Given the description of an element on the screen output the (x, y) to click on. 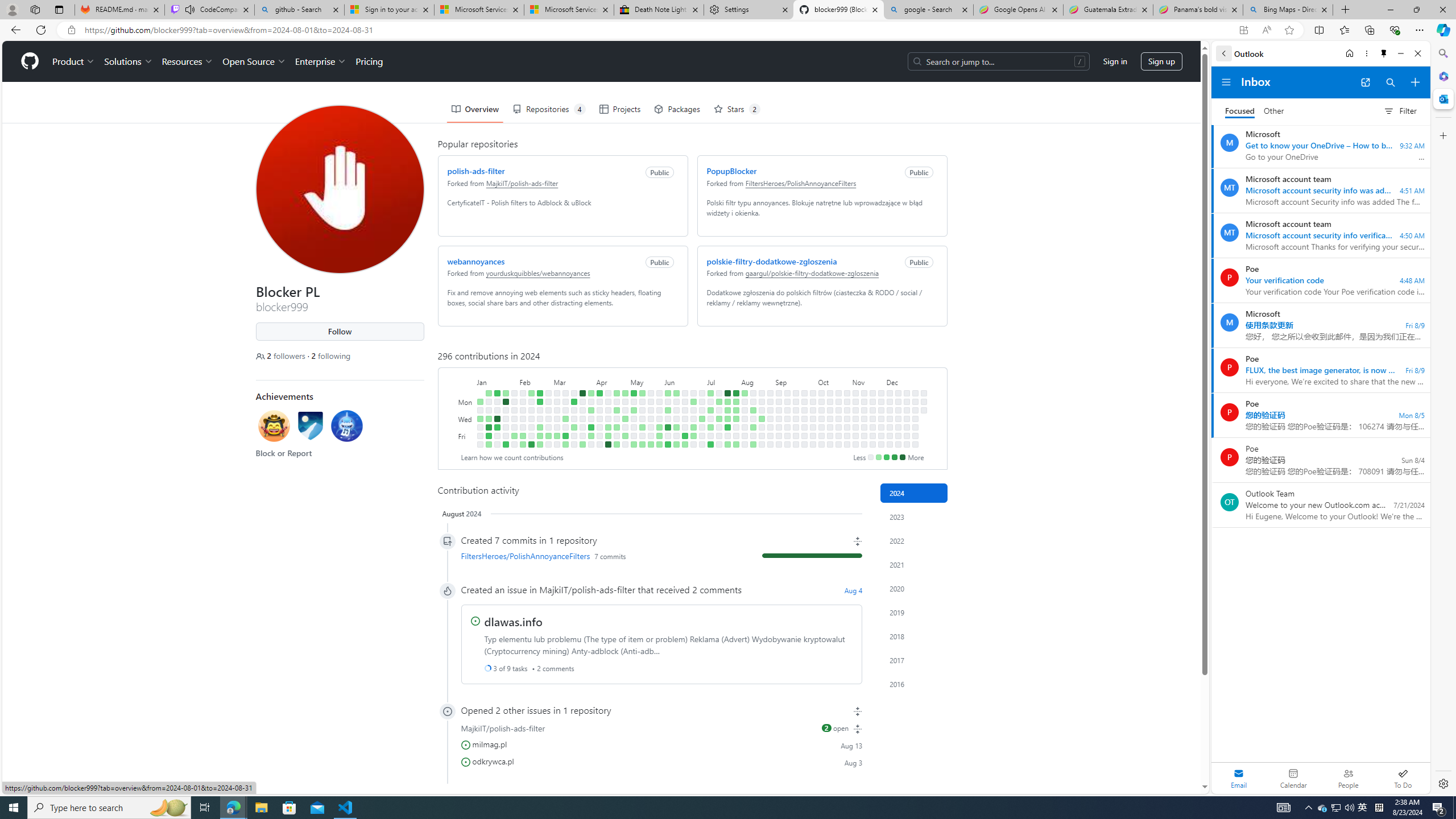
No contributions on January 6th. (479, 444)
No contributions on April 12th. (598, 435)
No contributions on February 21st. (539, 418)
1 contribution on August 21st. (761, 418)
Other (1273, 110)
No contributions on June 17th. (684, 401)
Friday (465, 435)
No contributions on September 9th. (786, 401)
No contributions on April 22nd. (616, 401)
Contribution activity in 2019 (913, 612)
No contributions on March 14th. (565, 427)
No contributions on April 26th. (616, 435)
